Given the description of an element on the screen output the (x, y) to click on. 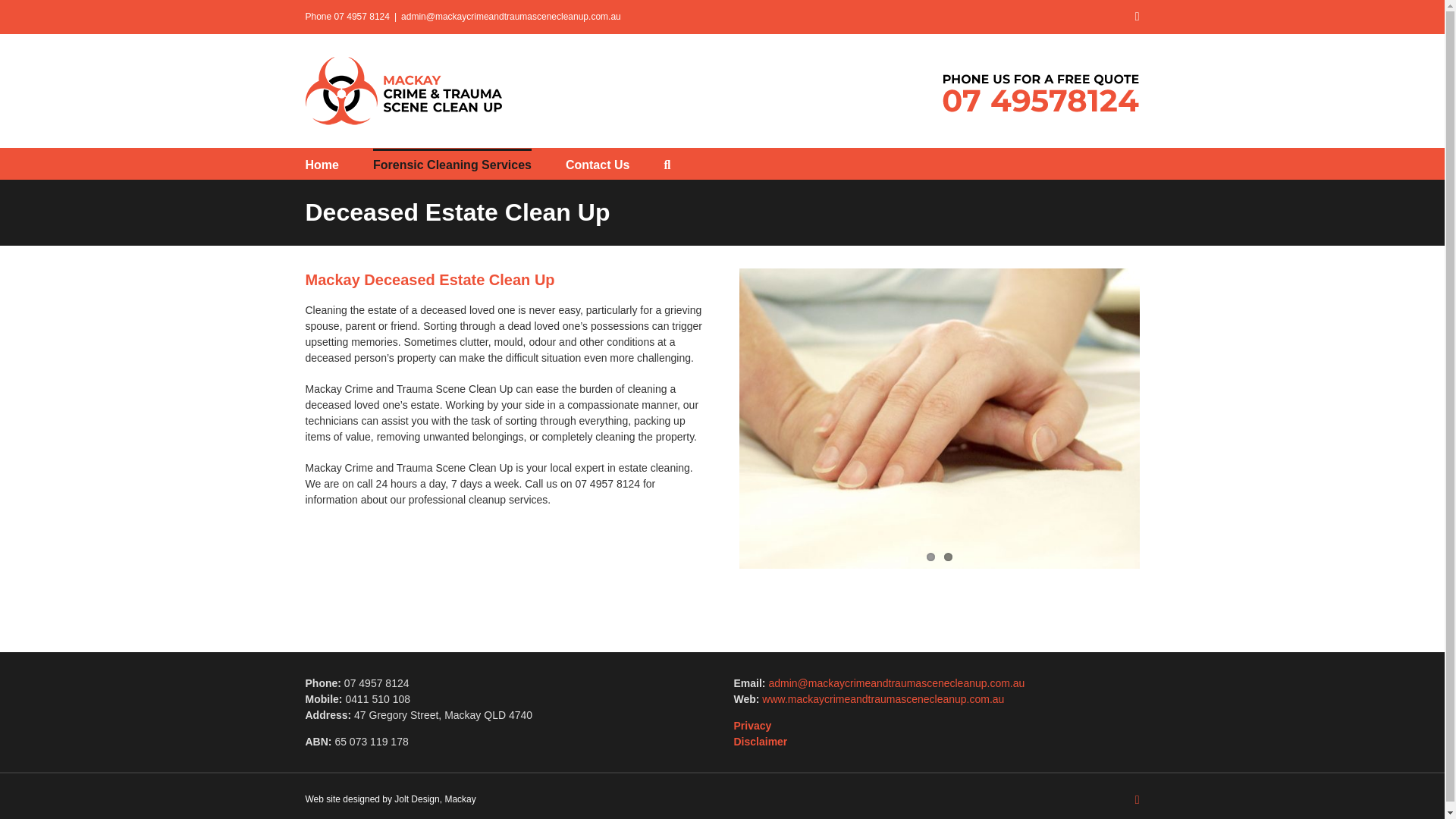
Forensic Cleaning Services (451, 163)
Privacy (752, 725)
www.mackaycrimeandtraumascenecleanup.com.au (882, 698)
Search (666, 163)
Disclaimer (760, 741)
2 (947, 556)
Email (1137, 16)
1 (930, 556)
Contact Us (597, 163)
Home (320, 163)
